Given the description of an element on the screen output the (x, y) to click on. 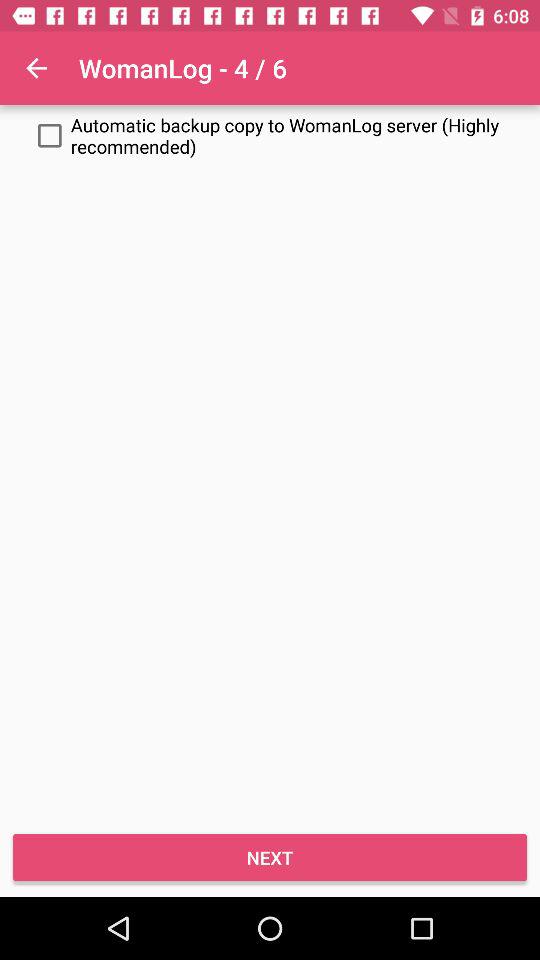
click next (269, 857)
